Given the description of an element on the screen output the (x, y) to click on. 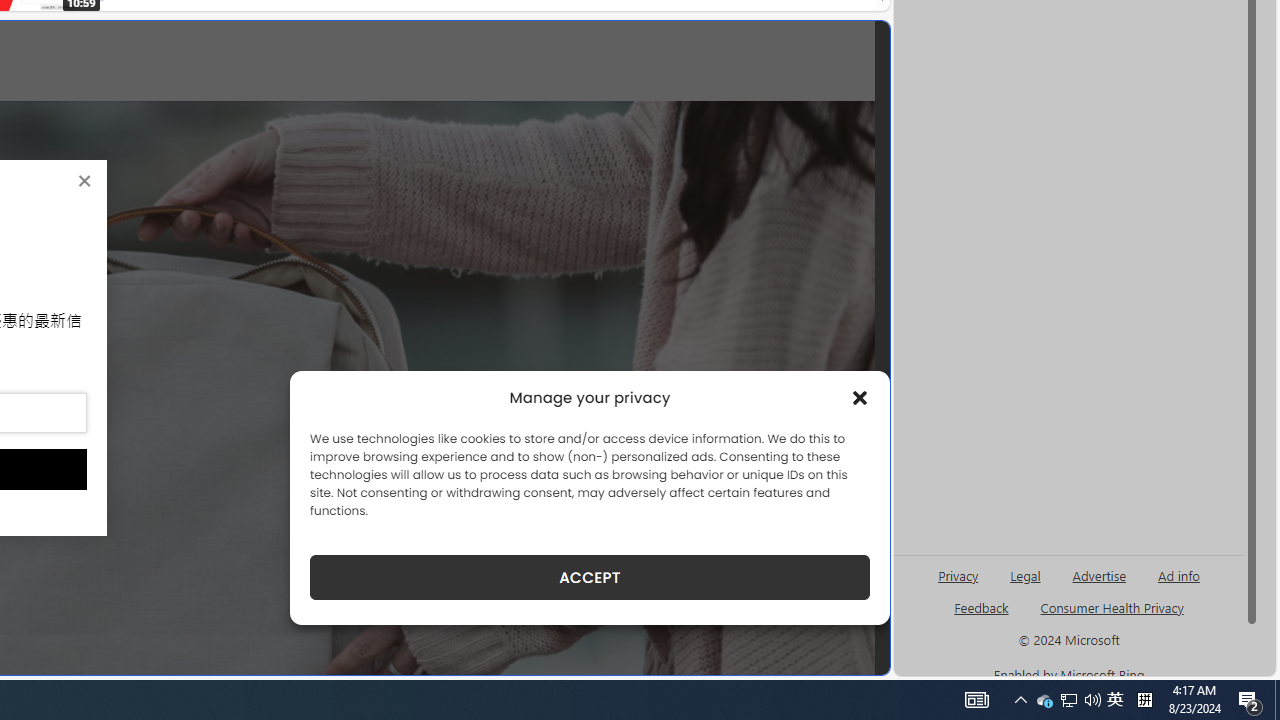
ACCEPT (589, 577)
Class: cmplz-close (859, 398)
AutomationID: genId96 (981, 615)
AutomationID: sb_feedback (980, 607)
